Given the description of an element on the screen output the (x, y) to click on. 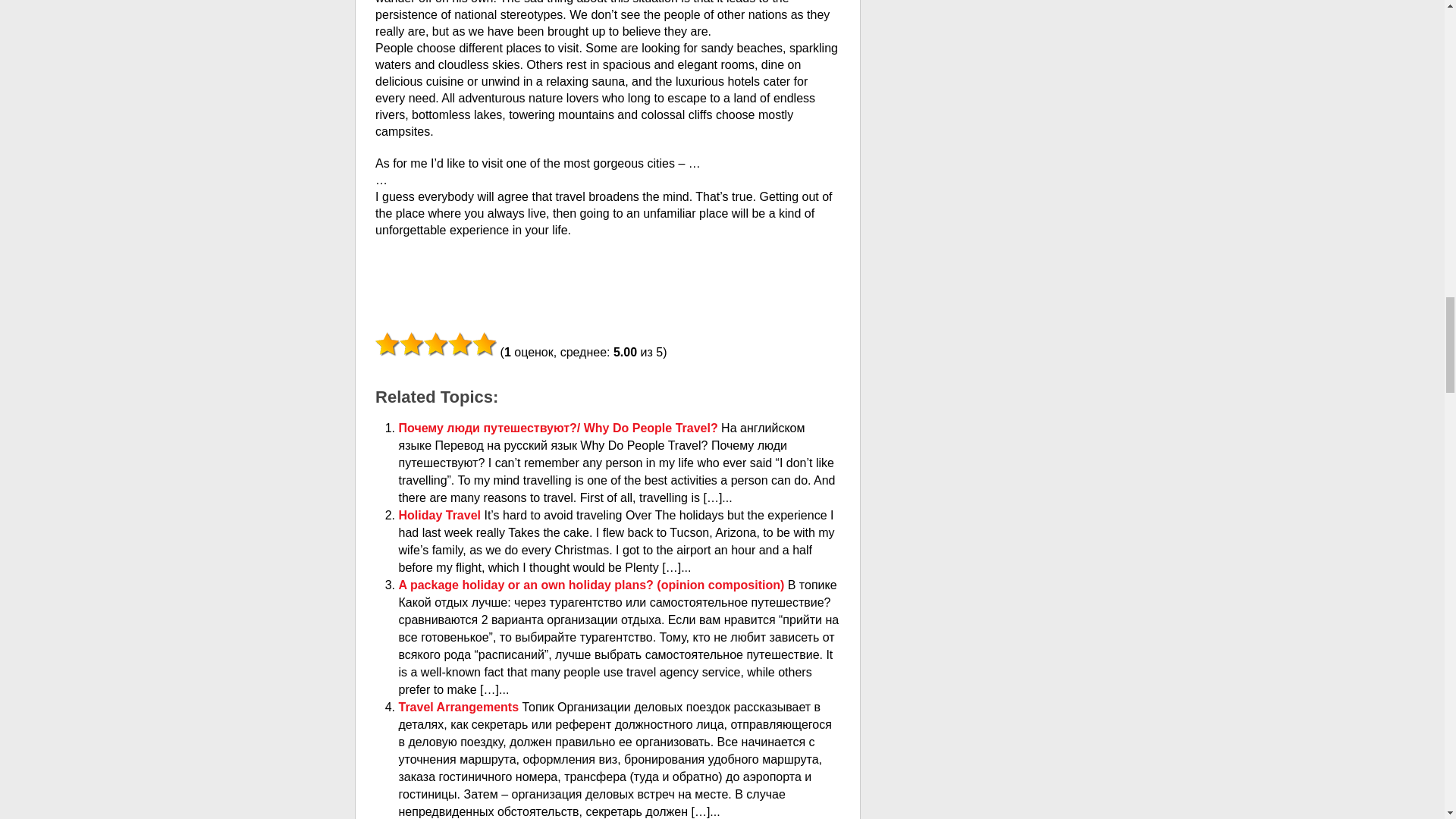
3 Stars (435, 344)
4 Stars (459, 344)
Travel Arrangements (460, 707)
Holiday Travel (441, 514)
Holiday Travel (441, 514)
2 Stars (410, 344)
1 Star (386, 344)
5 Stars (483, 344)
Travel Arrangements (460, 707)
